Given the description of an element on the screen output the (x, y) to click on. 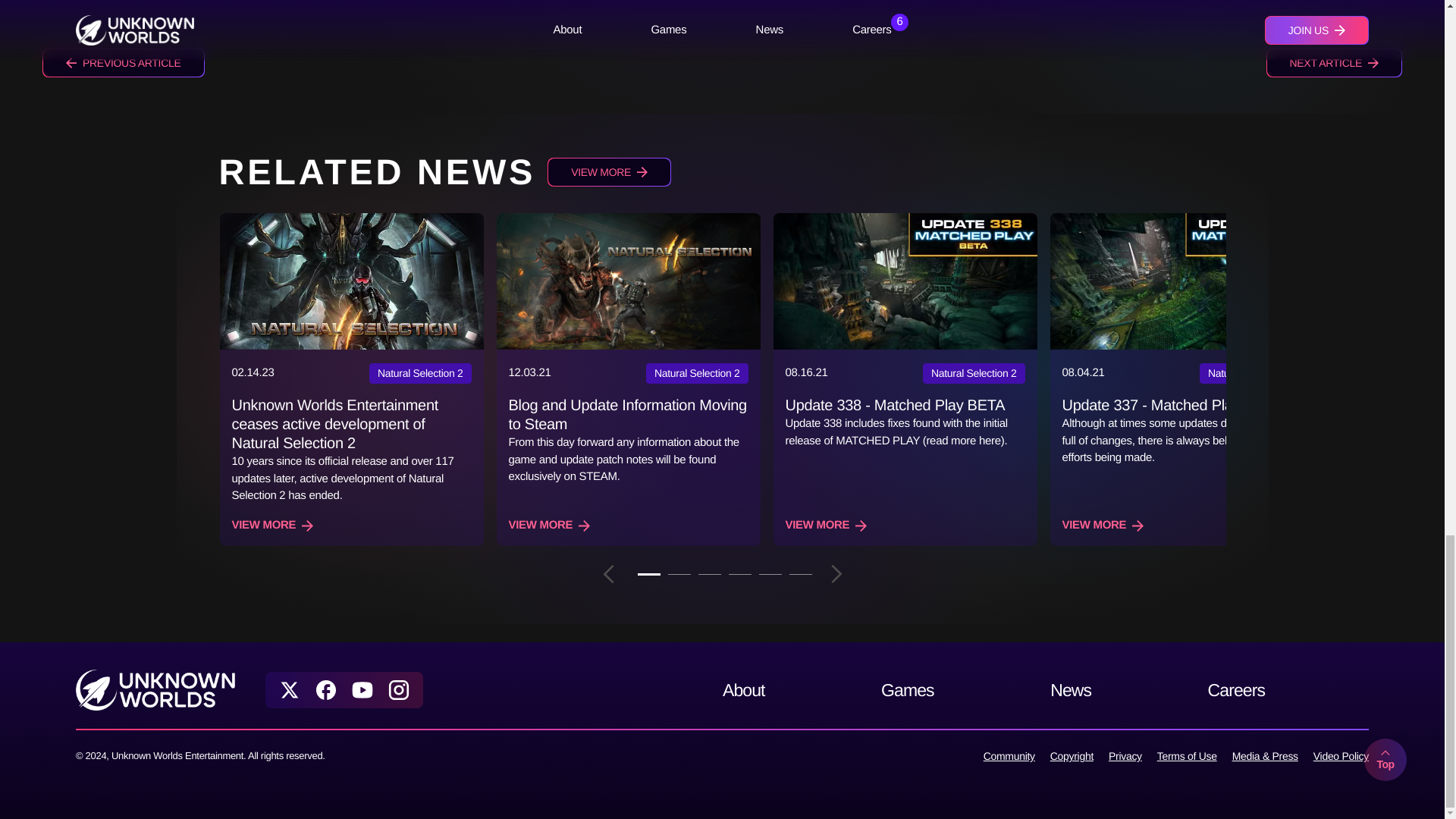
PREVIOUS ARTICLE (123, 62)
Natural Selection 2 (974, 373)
VIEW MORE (548, 525)
VIEW MORE (609, 172)
NEXT ARTICLE (1334, 62)
Natural Selection 2 (1250, 373)
Natural Selection 2 (697, 373)
VIEW MORE (1101, 525)
VIEW MORE (826, 525)
Natural Selection 2 (420, 373)
VIEW MORE (272, 525)
